Given the description of an element on the screen output the (x, y) to click on. 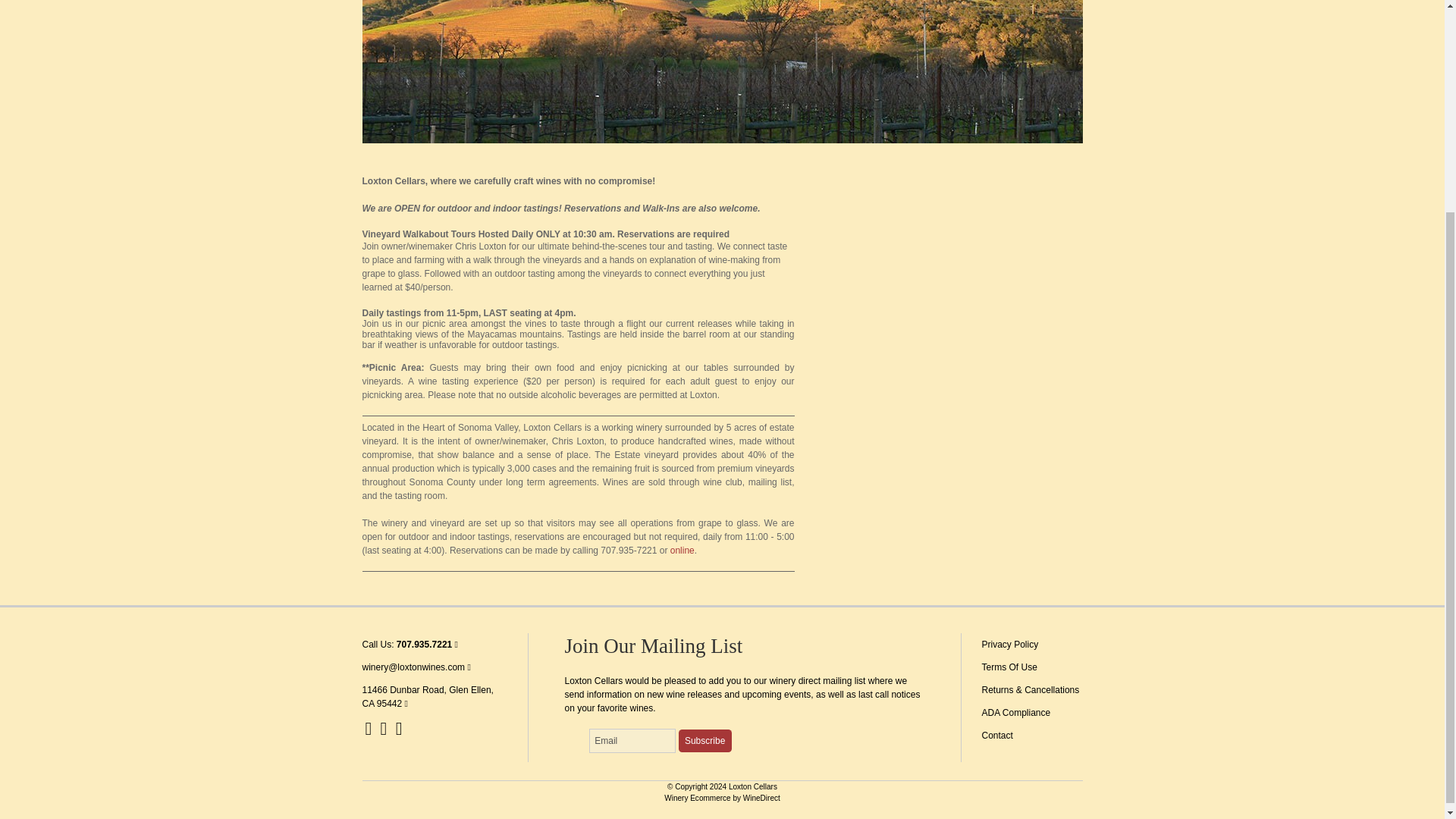
ADA Compliance (1015, 712)
Email (632, 740)
Contact (996, 735)
11466 Dunbar Road, Glen Ellen, CA 95442 (427, 696)
Call Us: 707.935.7221 (410, 644)
Terms Of Use (1008, 666)
Privacy Policy (1009, 644)
online (681, 550)
Subscribe (705, 740)
